Given the description of an element on the screen output the (x, y) to click on. 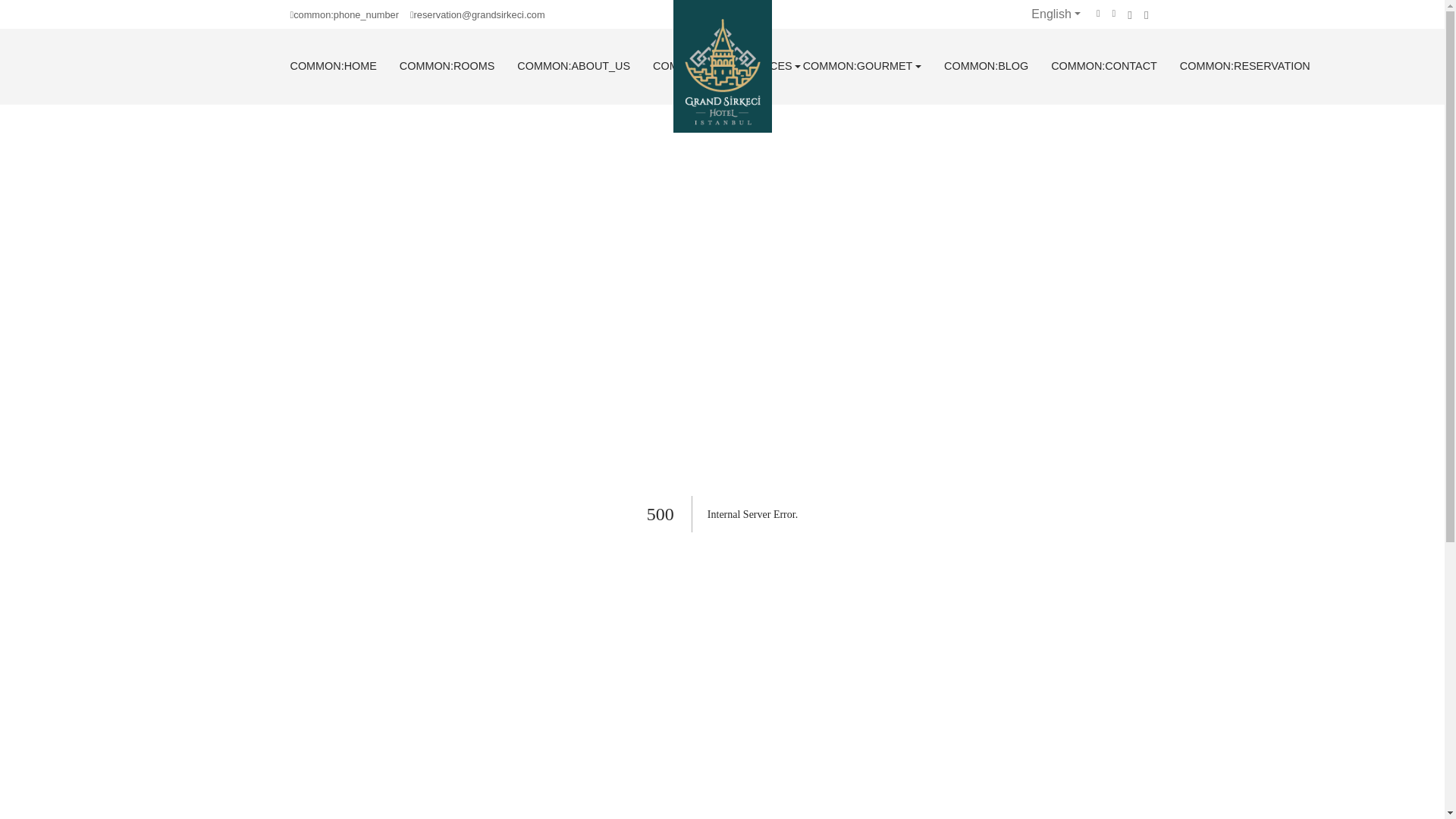
English (1045, 14)
COMMON:HOME (332, 66)
COMMON:ROOMS (446, 66)
